Given the description of an element on the screen output the (x, y) to click on. 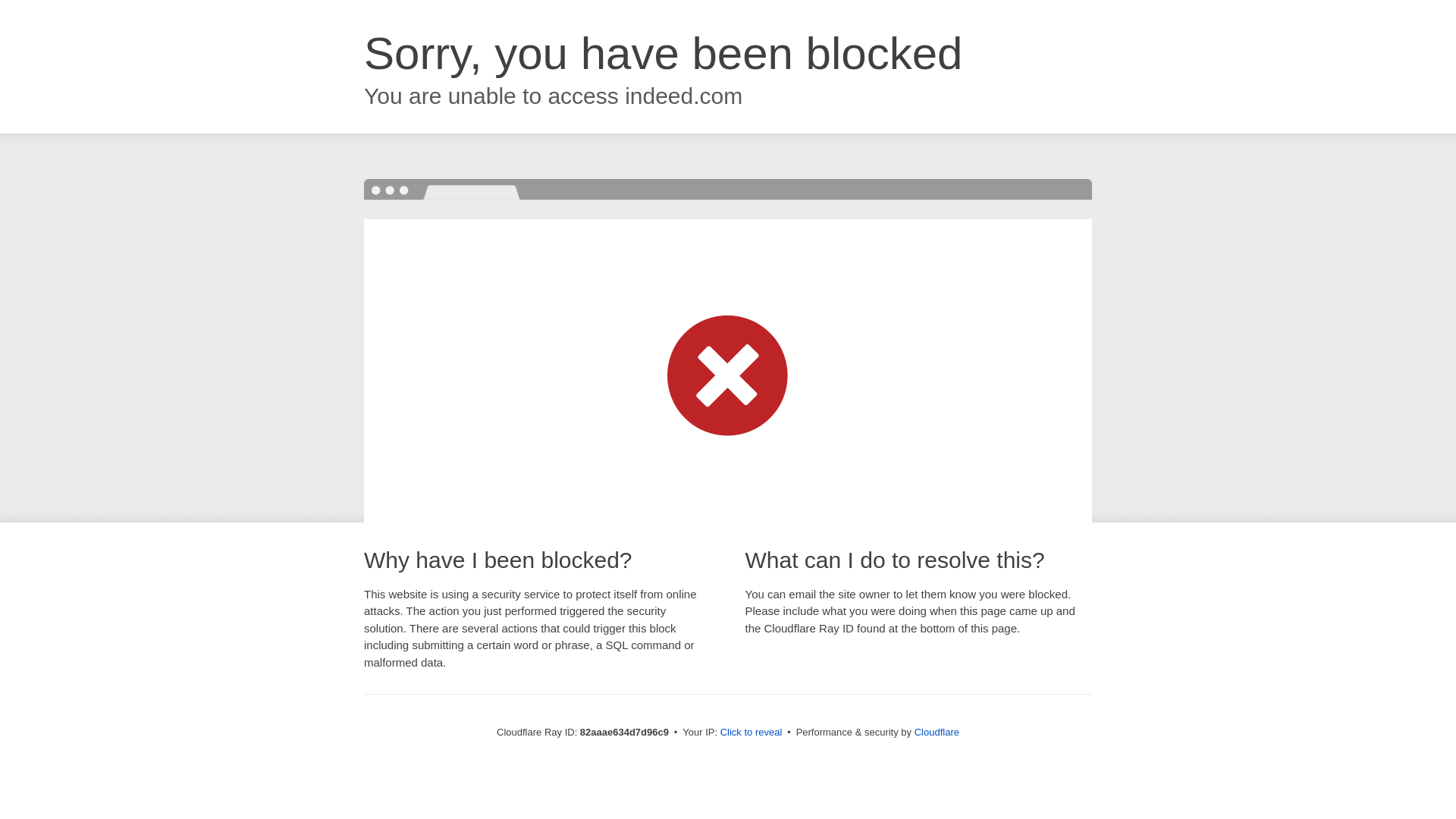
Click to reveal Element type: text (751, 732)
Cloudflare Element type: text (936, 731)
